Given the description of an element on the screen output the (x, y) to click on. 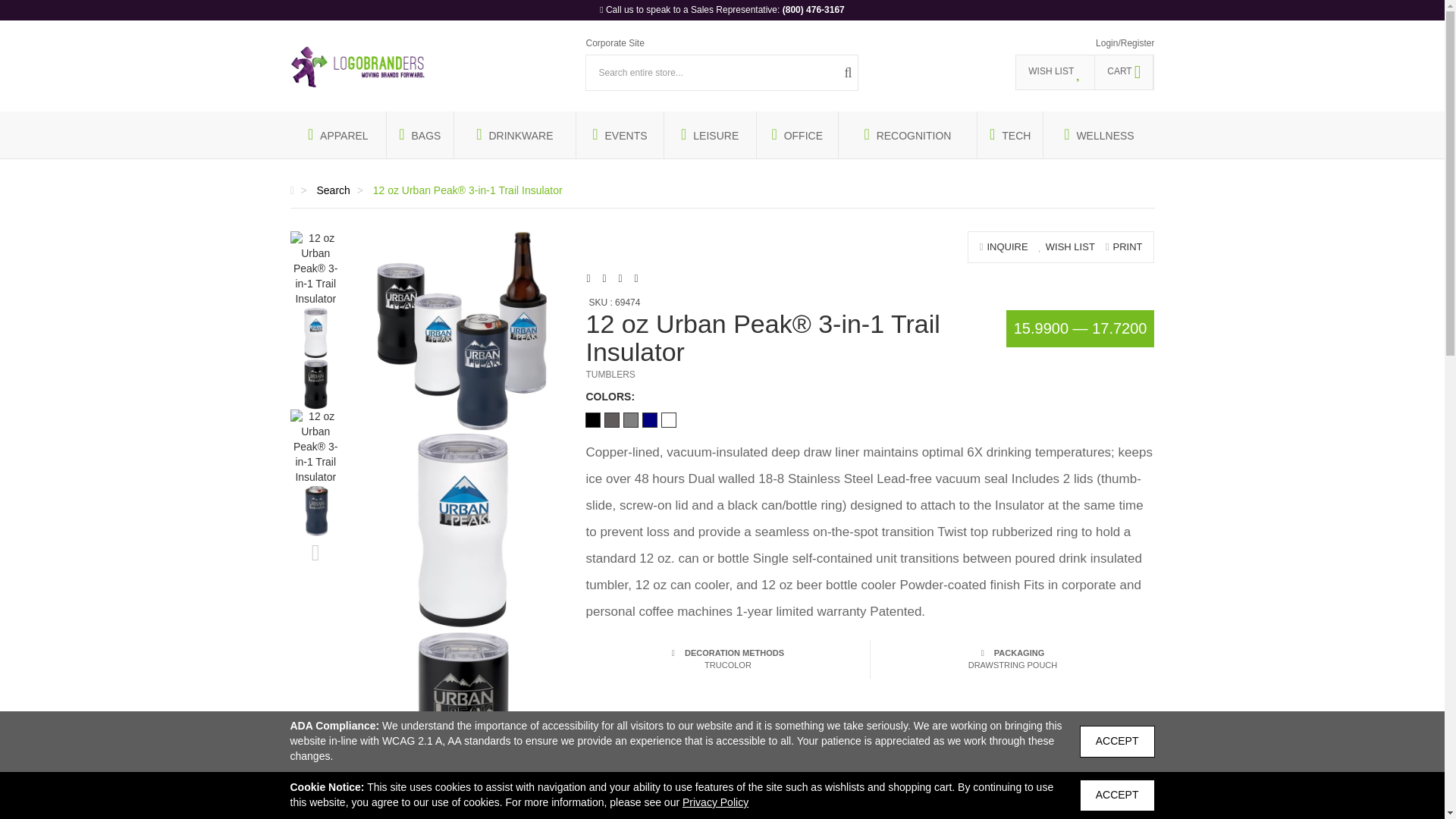
CART (1123, 72)
Corporate Site (614, 42)
WHITE (669, 419)
WISH LIST (1055, 72)
NAVY BLUE (650, 419)
EVENTS (619, 134)
DRINKWARE (514, 134)
BLACK (592, 419)
DARK GRAY (612, 419)
APPAREL (337, 134)
